Given the description of an element on the screen output the (x, y) to click on. 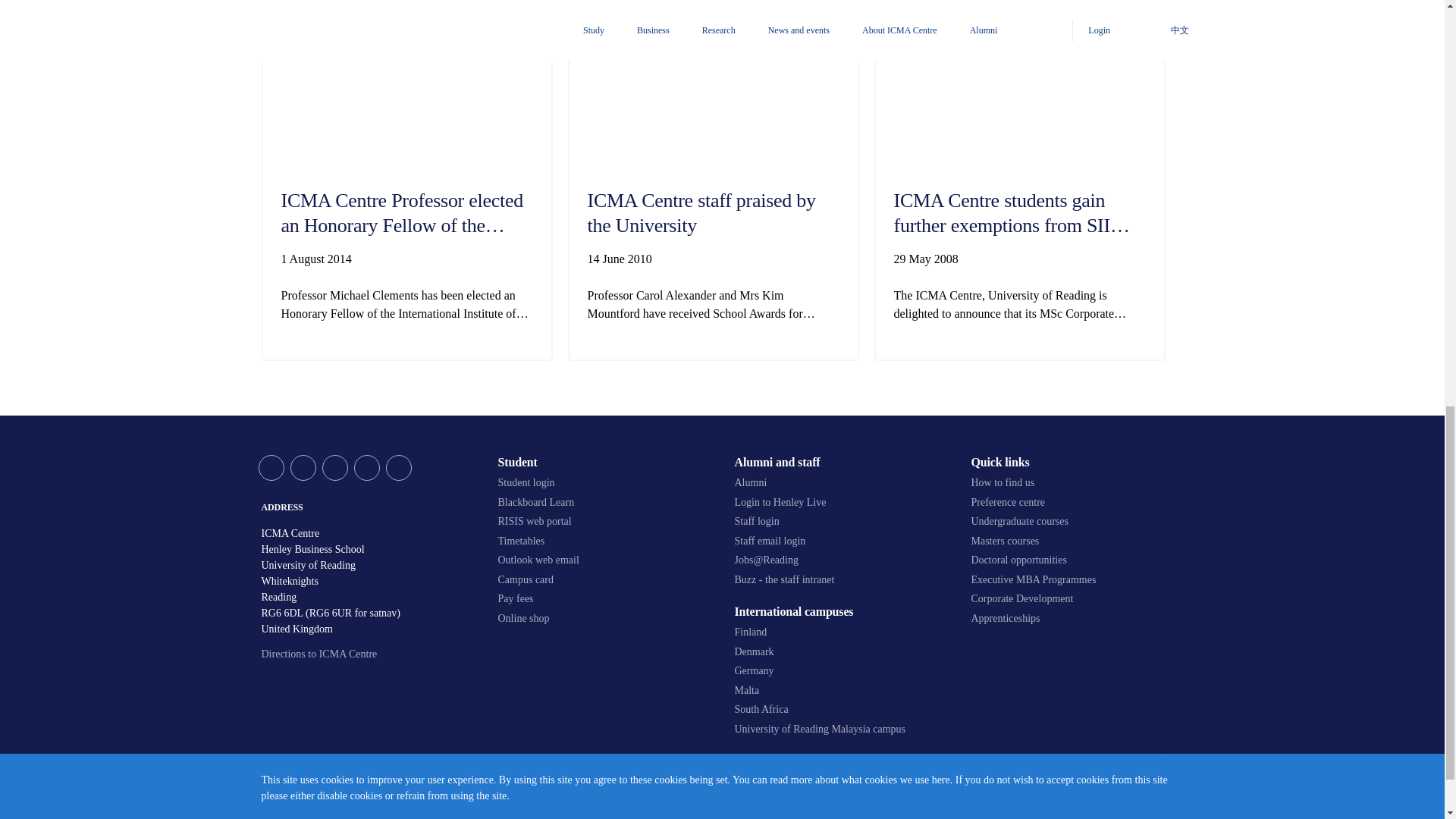
Student login (603, 482)
Outlook web email (603, 560)
Campus card (603, 580)
Buzz - the staff intranet (839, 580)
Instagram (397, 467)
Staff login (839, 521)
Facebook (302, 467)
Alumni (839, 482)
Blackboard Learn (603, 502)
YouTube (334, 467)
